Given the description of an element on the screen output the (x, y) to click on. 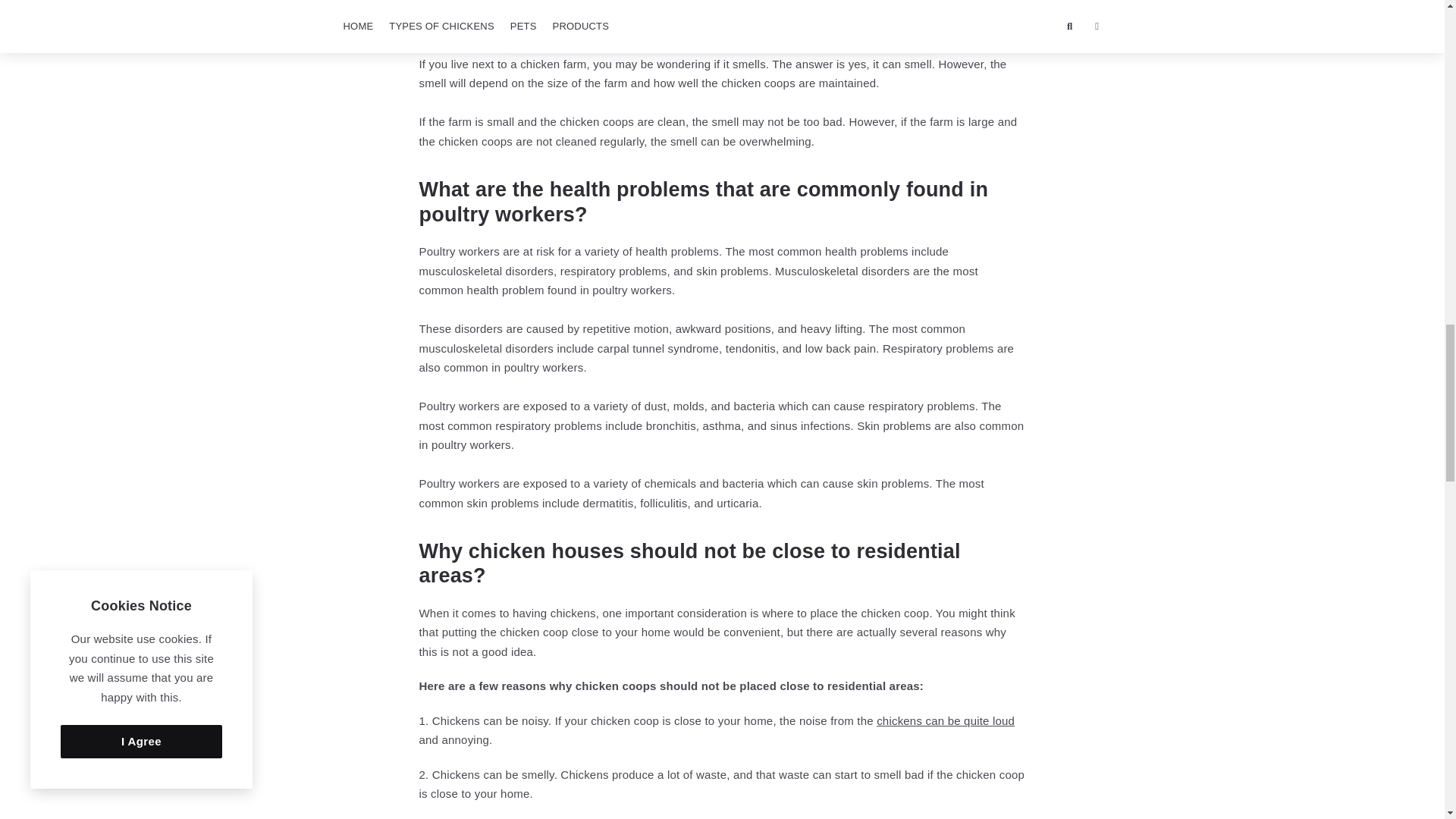
chickens can be quite loud (945, 720)
